Given the description of an element on the screen output the (x, y) to click on. 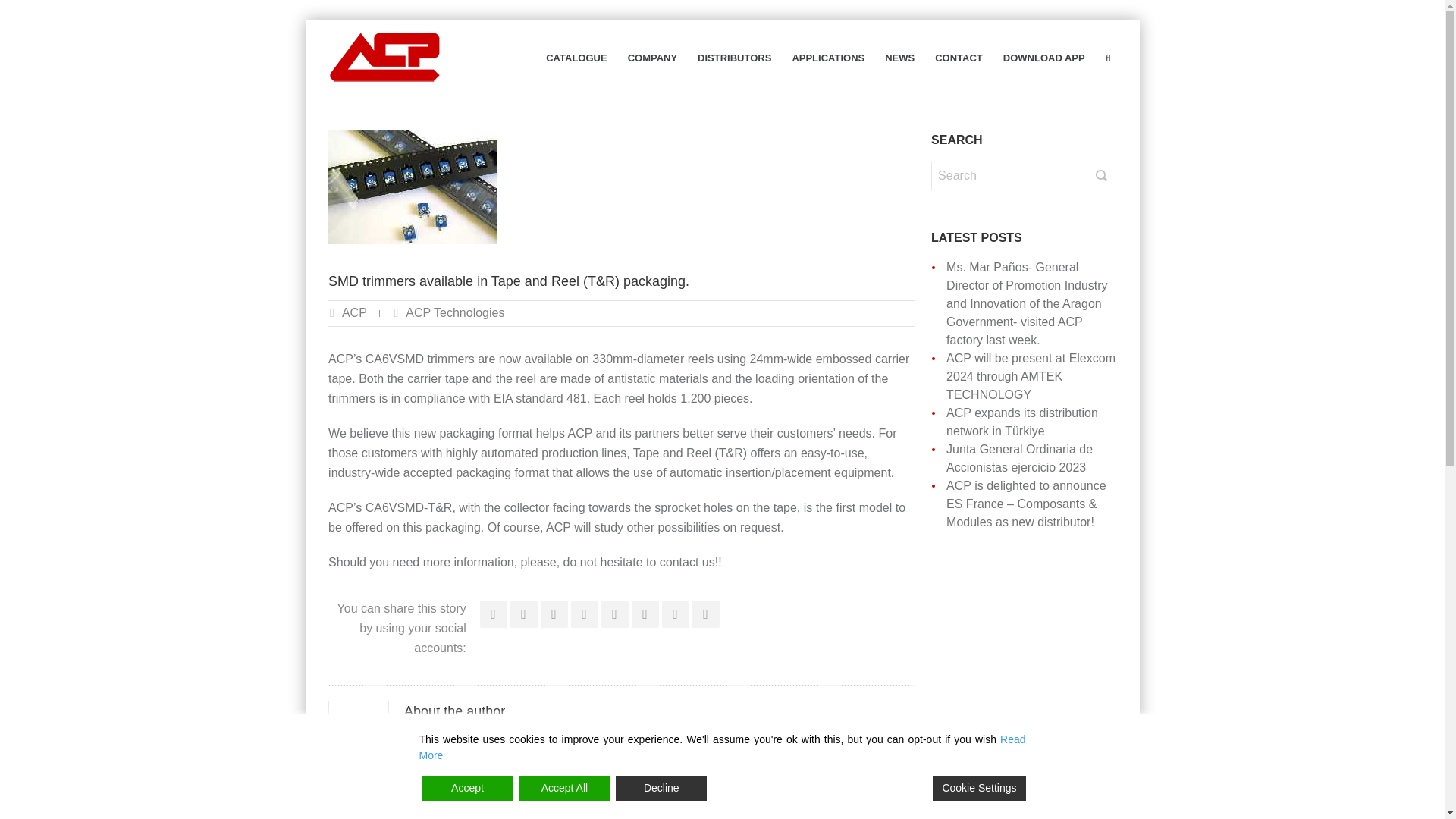
Search (1023, 175)
ACP will be present at Elexcom 2024 through AMTEK TECHNOLOGY (1030, 376)
Junta General Ordinaria de Accionistas ejercicio 2023 (1019, 458)
